Given the description of an element on the screen output the (x, y) to click on. 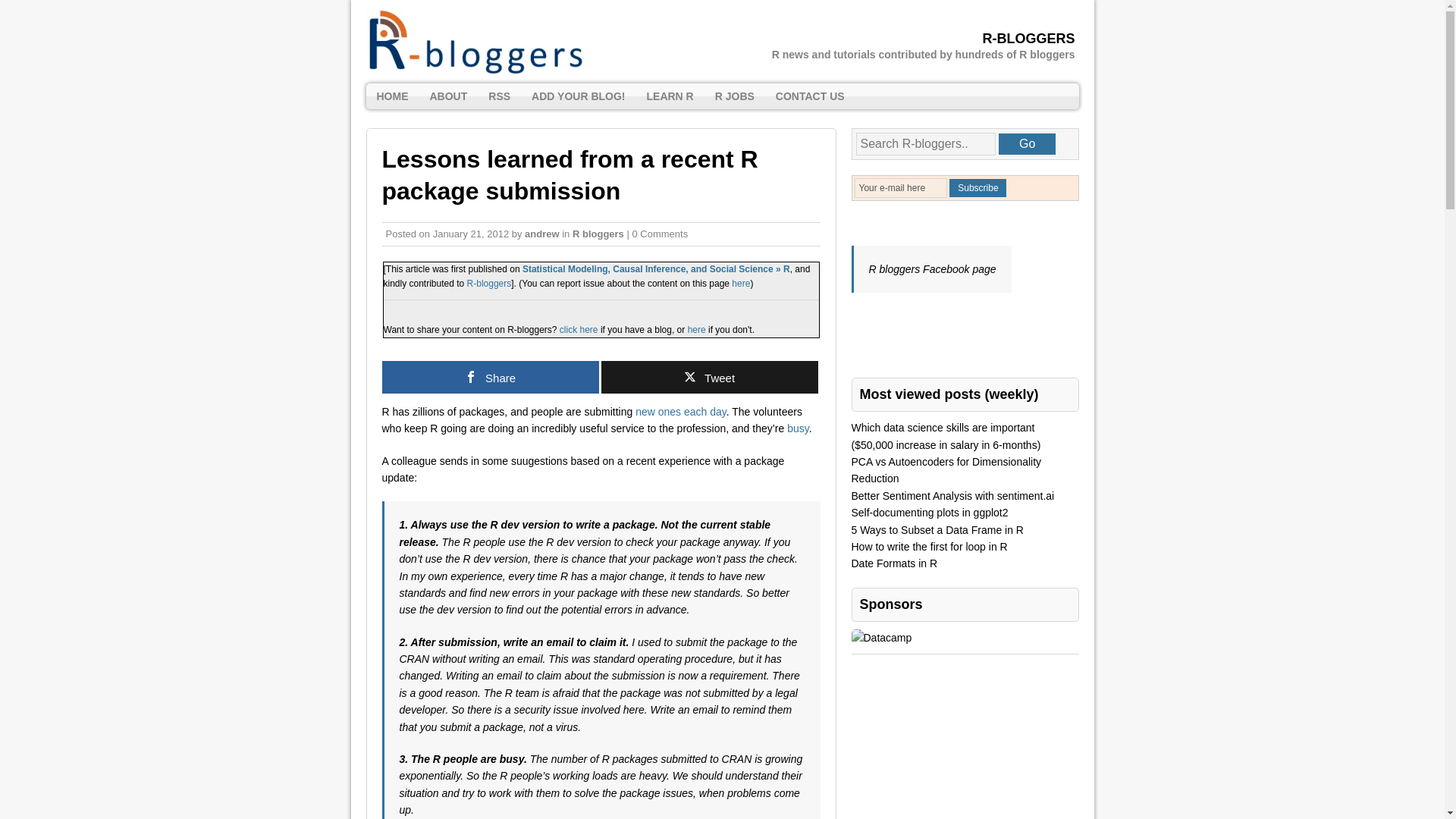
new ones each day (680, 411)
CONTACT US (810, 95)
Your e-mail here (899, 188)
PCA vs Autoencoders for Dimensionality Reduction (945, 469)
Go (1026, 143)
Subscribe (977, 188)
5 Ways to Subset a Data Frame in R (936, 530)
R bloggers Facebook page (932, 268)
busy (798, 428)
